Given the description of an element on the screen output the (x, y) to click on. 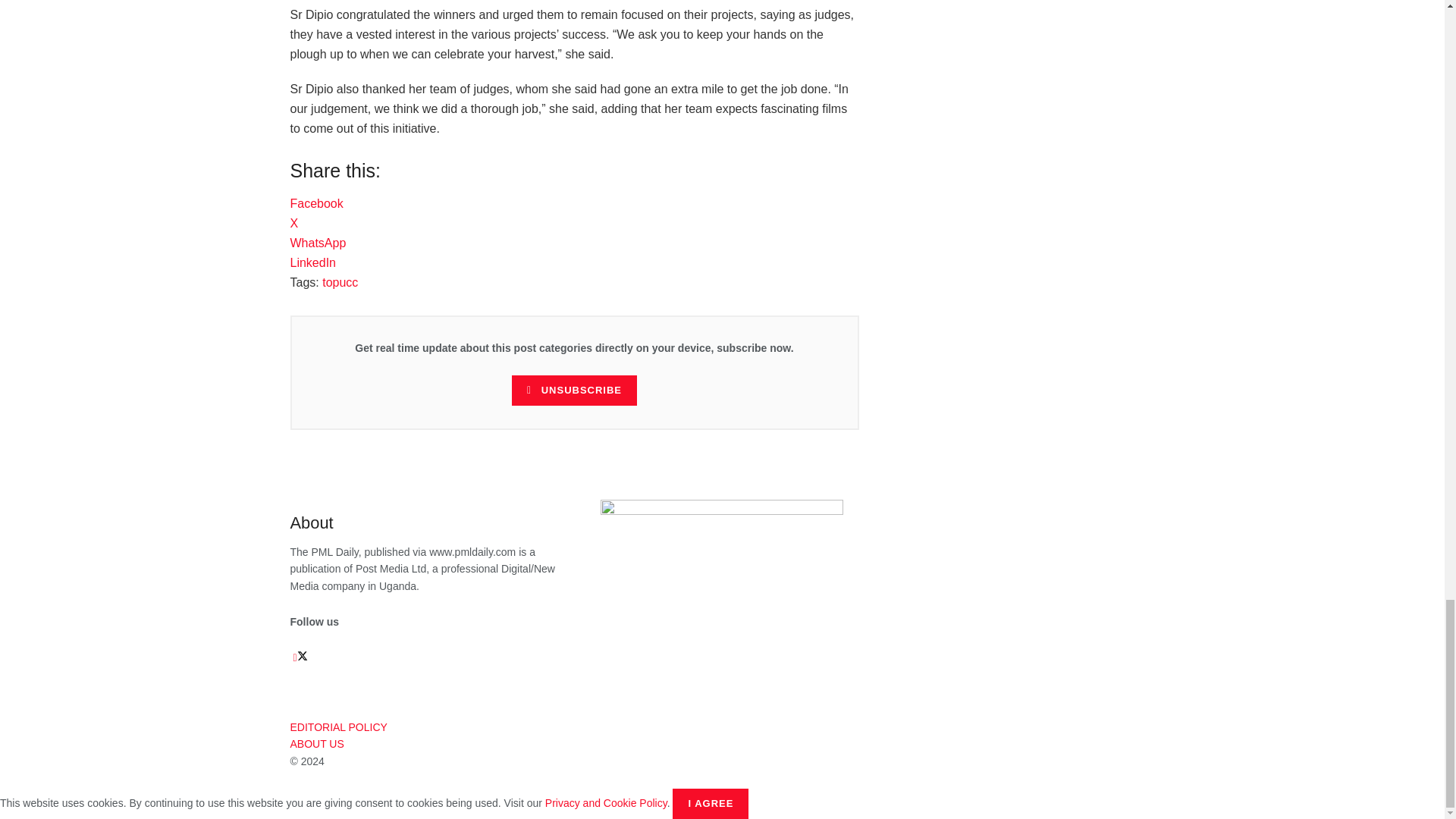
Click to share on Facebook (315, 203)
Click to share on LinkedIn (312, 262)
Click to share on WhatsApp (317, 242)
